Given the description of an element on the screen output the (x, y) to click on. 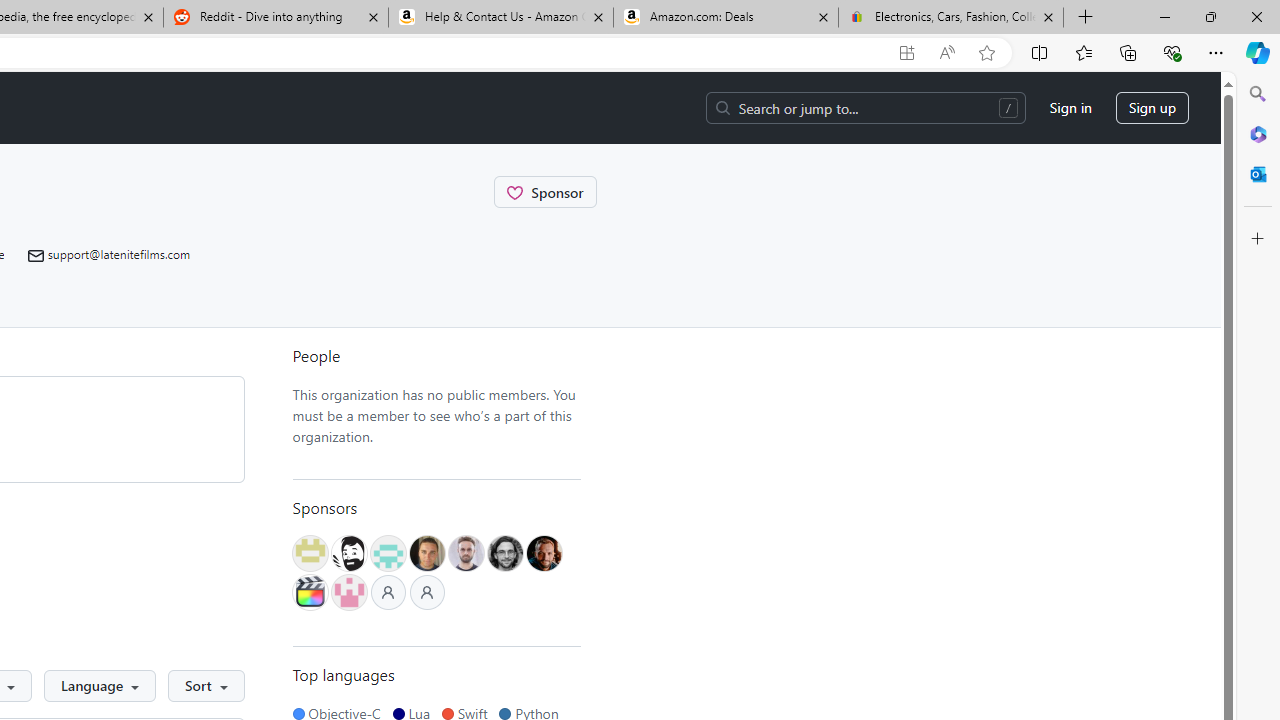
Help & Contact Us - Amazon Customer Service (501, 17)
@MarcosCastiel (387, 552)
@wtembundit (309, 552)
@samplue (465, 552)
